Given the description of an element on the screen output the (x, y) to click on. 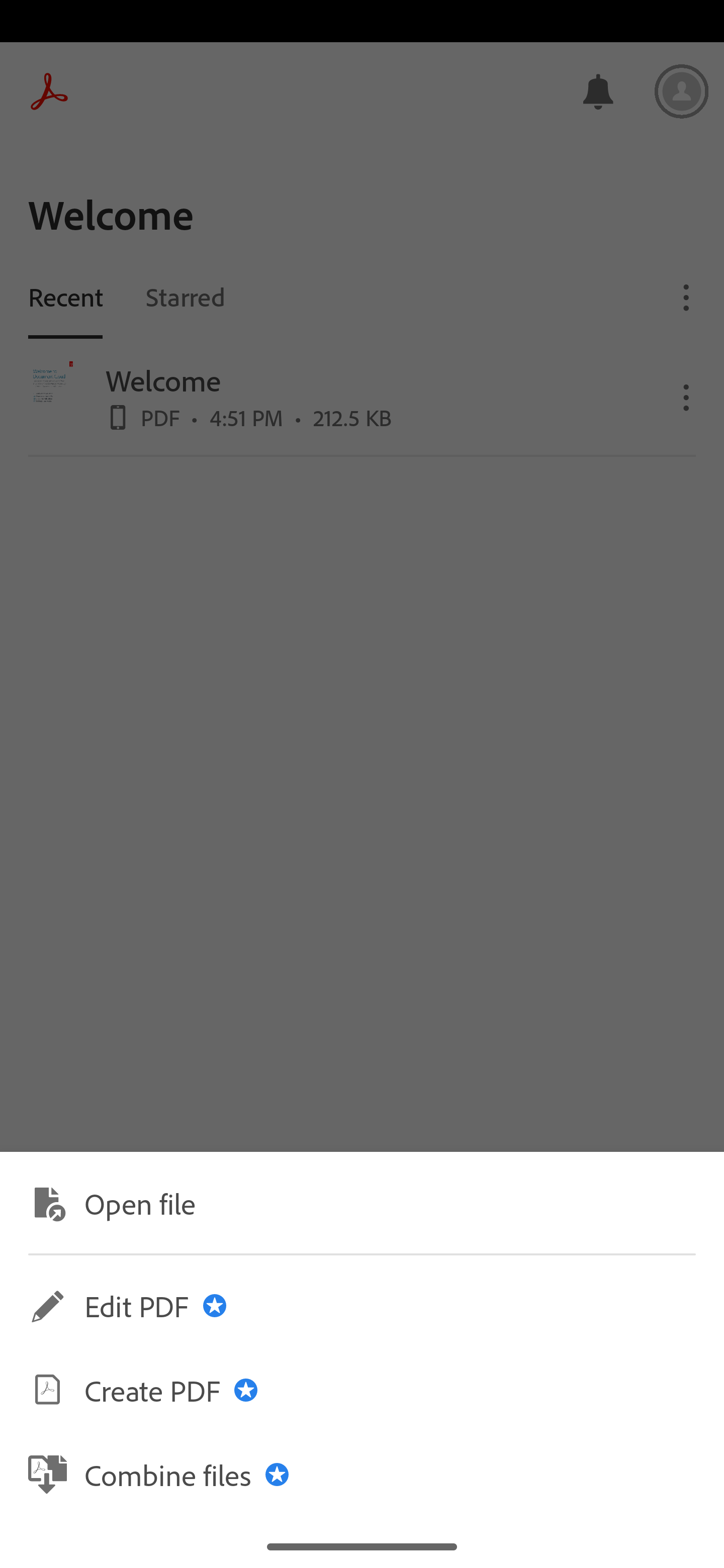
Open file (362, 1202)
Edit PDF Premium (362, 1305)
Create PDF Premium (362, 1389)
Combine files Premium (362, 1473)
